Given the description of an element on the screen output the (x, y) to click on. 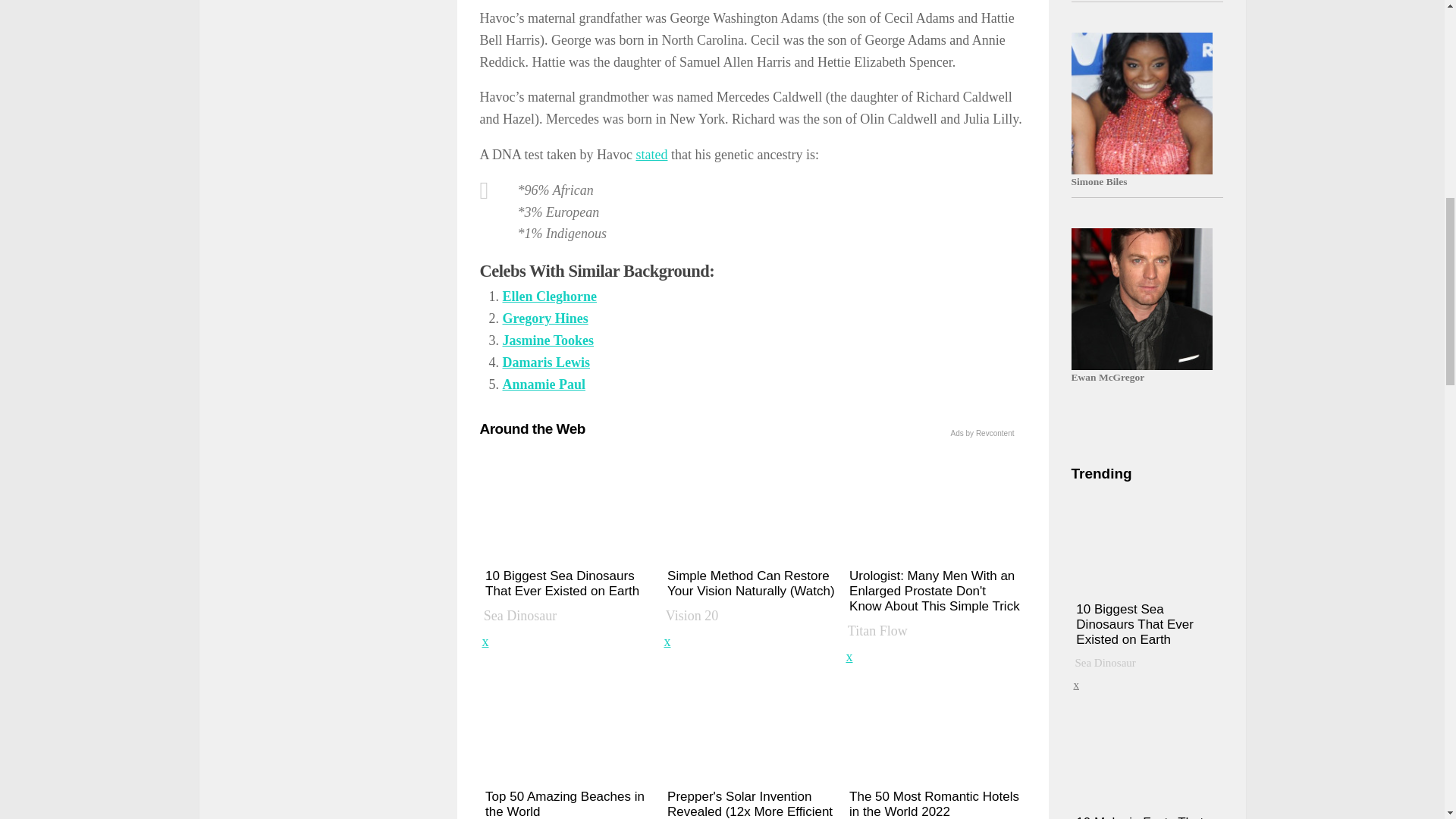
stated (650, 154)
Damaris Lewis (545, 362)
Jasmine Tookes (548, 340)
Gregory Hines (545, 318)
Jasmine Tookes (548, 340)
10 Biggest Sea Dinosaurs That Ever Existed on Earth (570, 541)
Annamie Paul (543, 384)
Ellen Cleghorne (549, 296)
Ellen Cleghorne (549, 296)
Annamie Paul (543, 384)
Top 50 Amazing Beaches in the World (570, 745)
Damaris Lewis (545, 362)
